Given the description of an element on the screen output the (x, y) to click on. 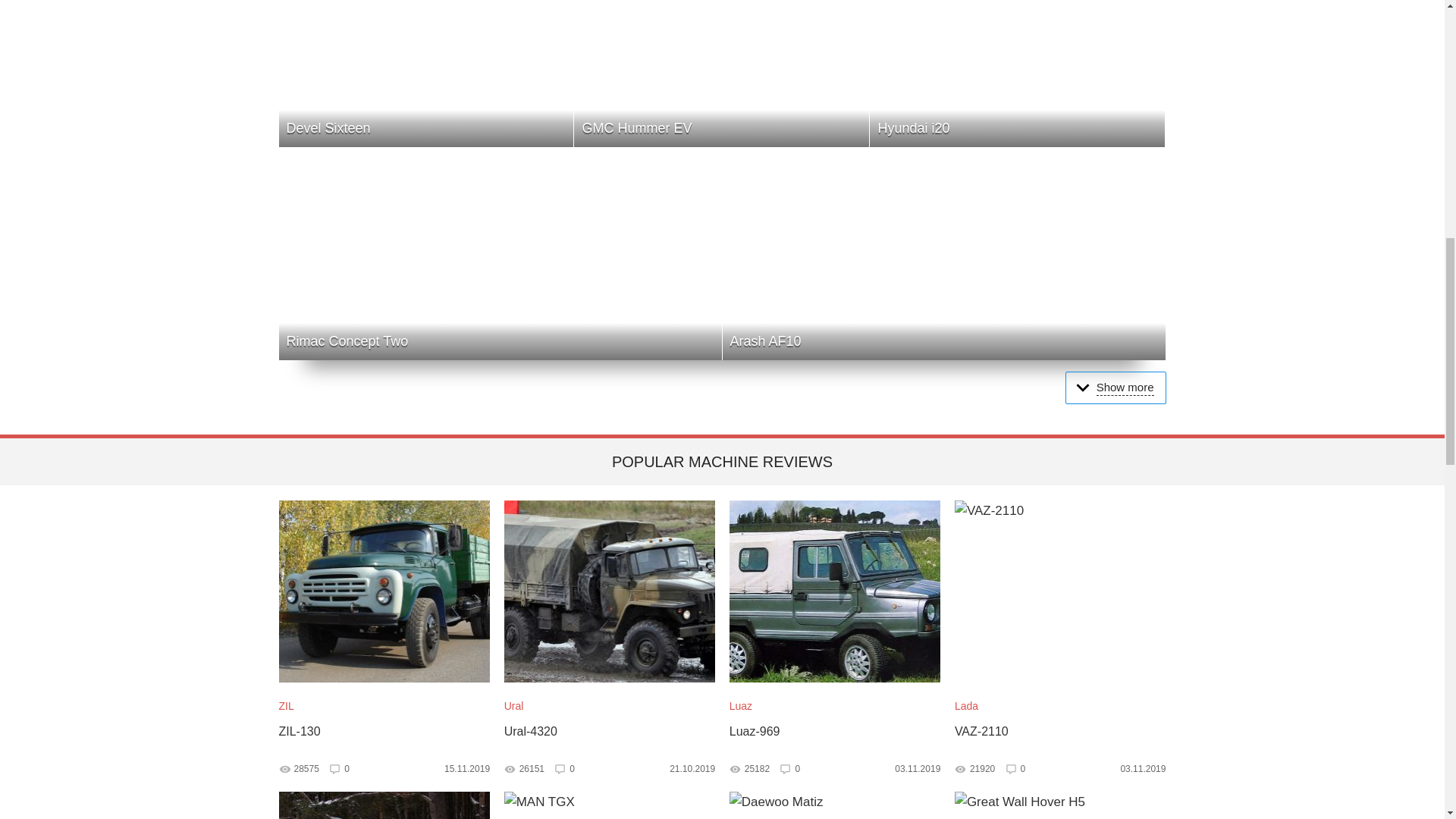
Rimac Concept Two (834, 805)
GMC Hummer EV (500, 254)
Show more (384, 805)
Hyundai i20 (721, 73)
Arash AF10 (1115, 387)
Devel Sixteen (1016, 73)
